Given the description of an element on the screen output the (x, y) to click on. 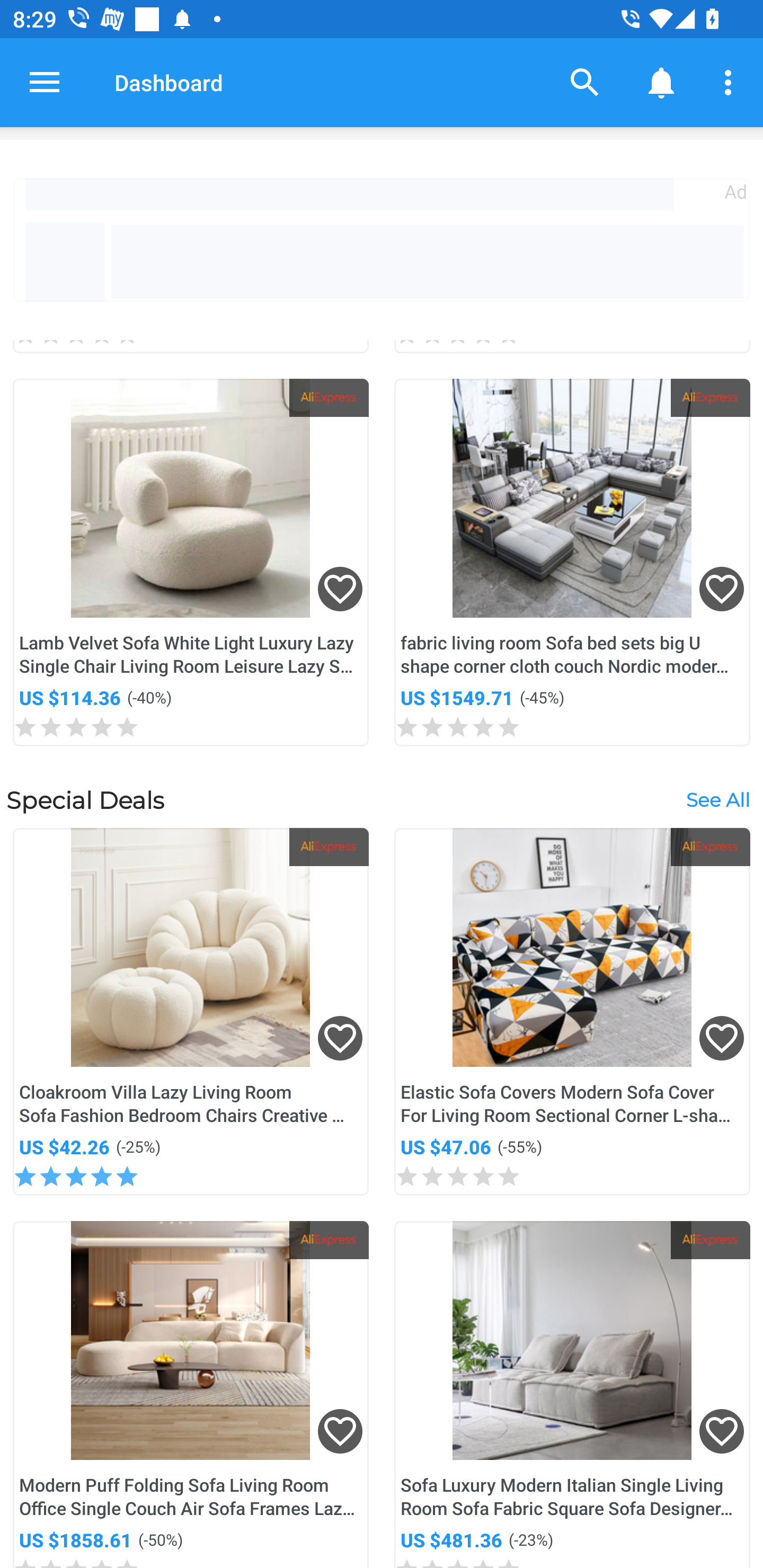
Open navigation drawer (44, 82)
Search (585, 81)
More options (731, 81)
See All (717, 799)
